Given the description of an element on the screen output the (x, y) to click on. 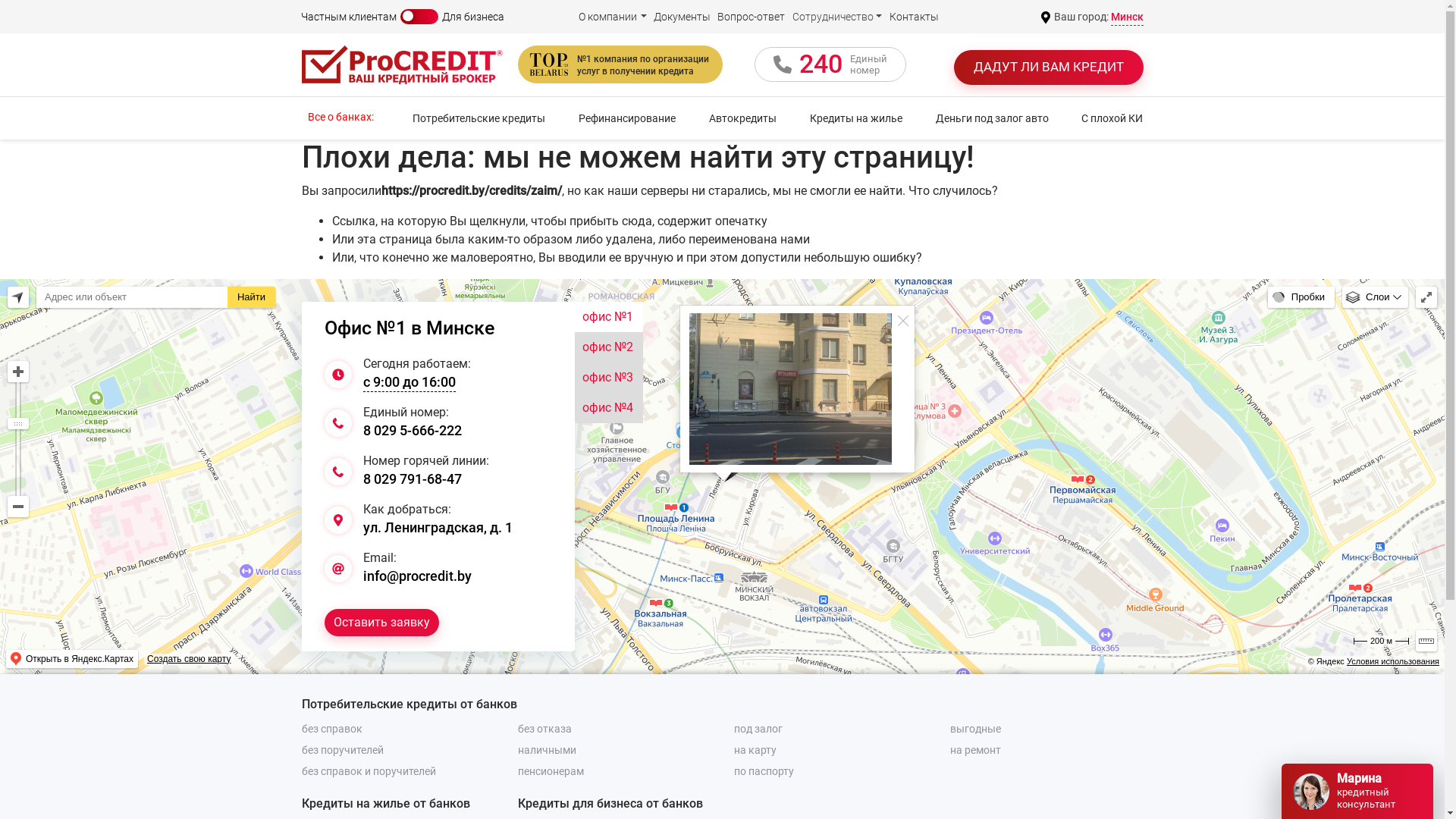
8 029 791-68-47 Element type: text (411, 478)
8 029 5-666-222 Element type: text (411, 429)
240 Element type: text (820, 63)
info@procredit.by Element type: text (416, 575)
